Given the description of an element on the screen output the (x, y) to click on. 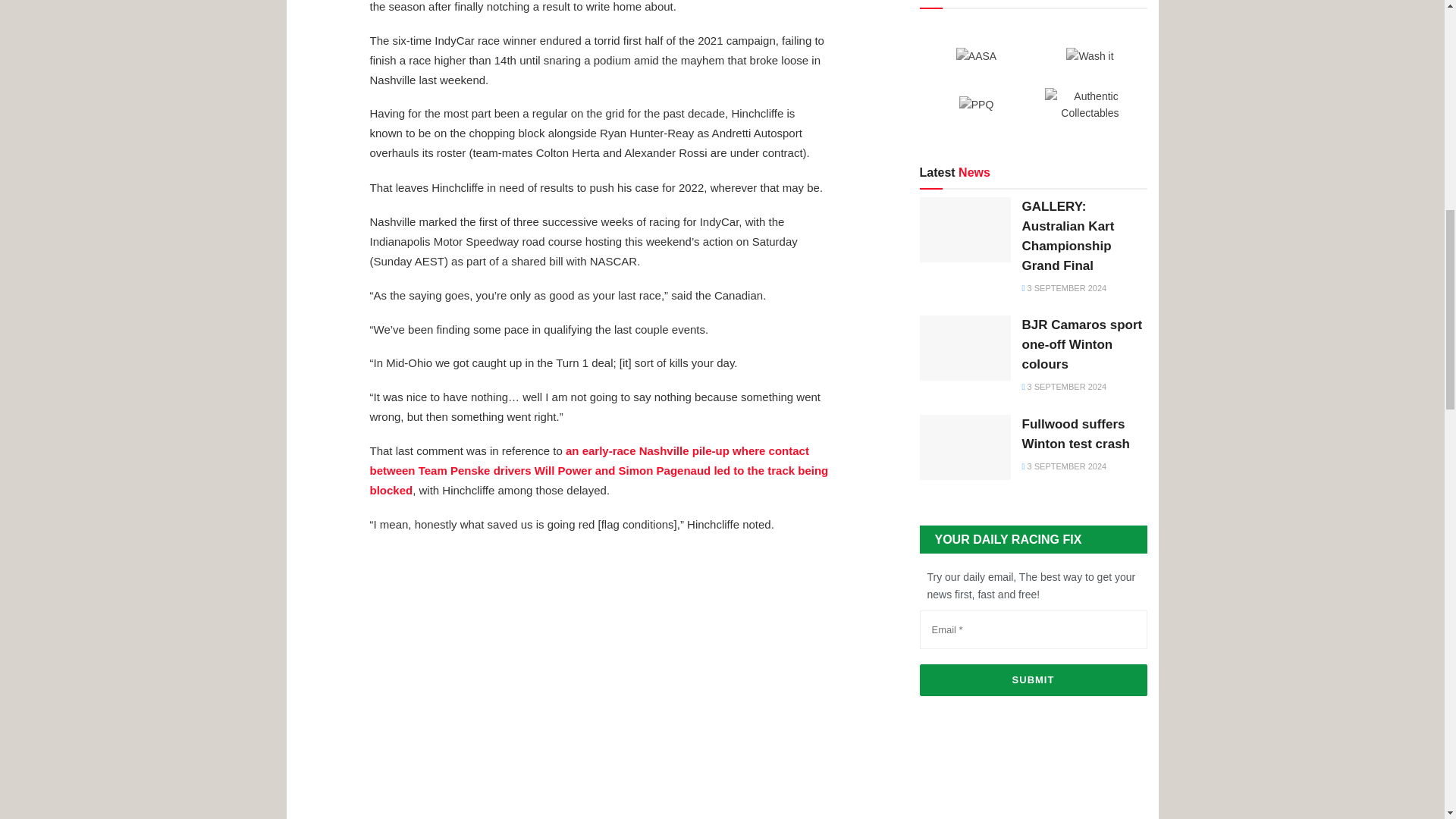
Authentic Collectables  (1090, 104)
Email (1032, 630)
PPQ (976, 104)
SUBMIT (1032, 680)
AASA (975, 55)
Wash it (1089, 55)
